Given the description of an element on the screen output the (x, y) to click on. 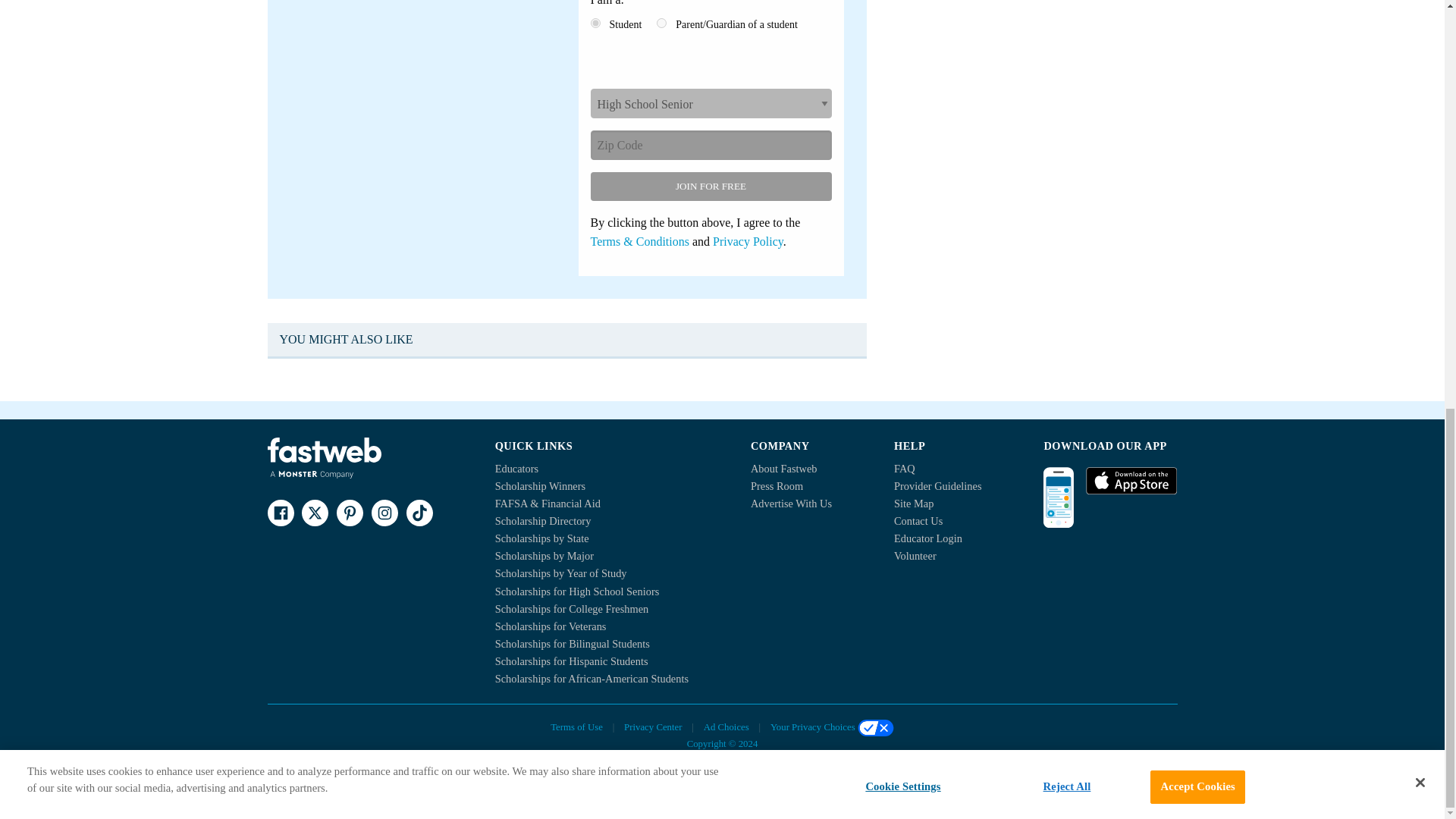
1 (594, 22)
Fastweb on Pinterest (349, 512)
Fastweb on Instagram (384, 512)
Fastweb on TikTok (419, 512)
Join for free (710, 185)
2 (661, 22)
Fastweb on IOS (1131, 480)
Fastweb on Facebook (280, 512)
